Given the description of an element on the screen output the (x, y) to click on. 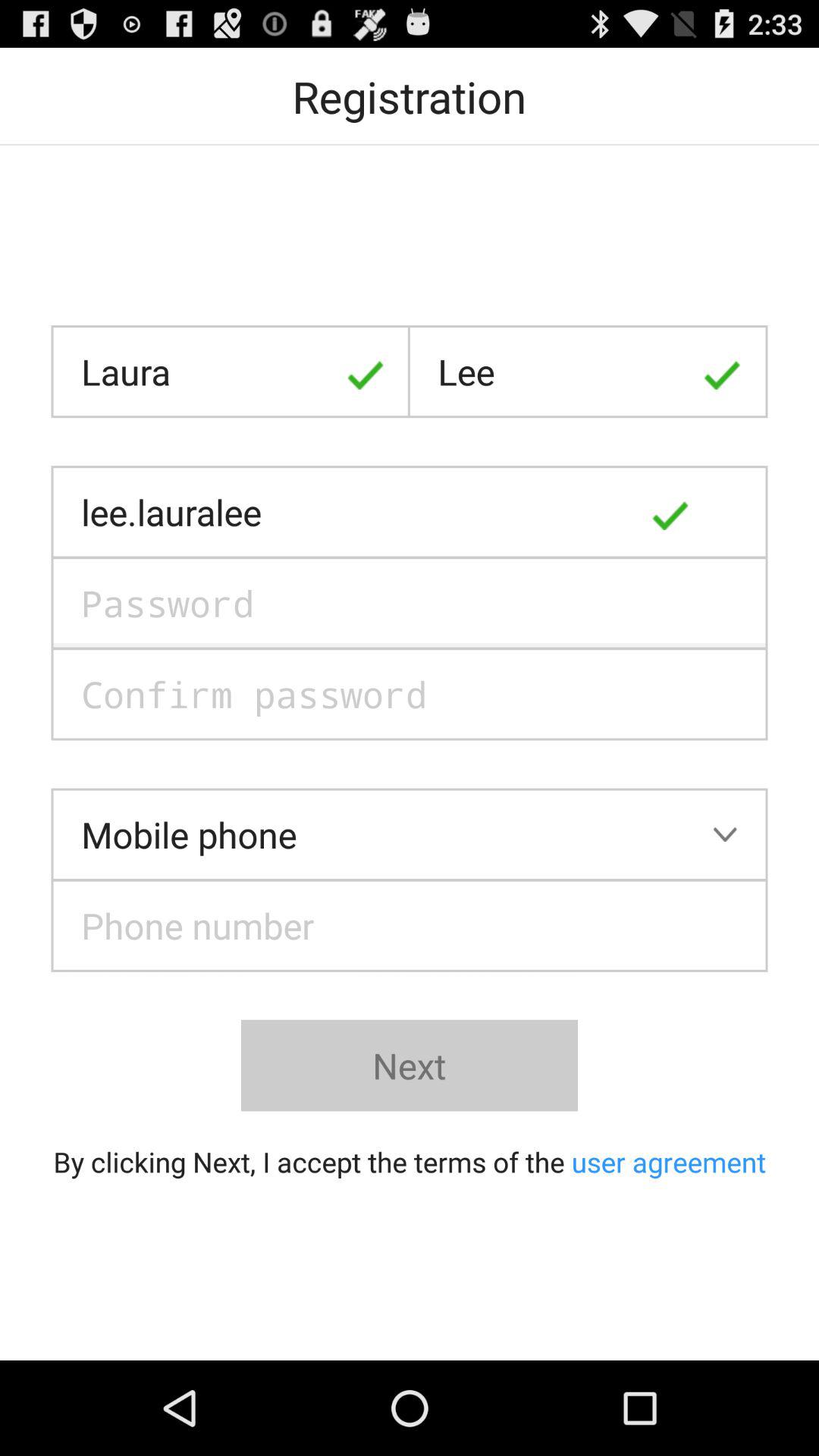
launch mobile phone app (409, 834)
